Given the description of an element on the screen output the (x, y) to click on. 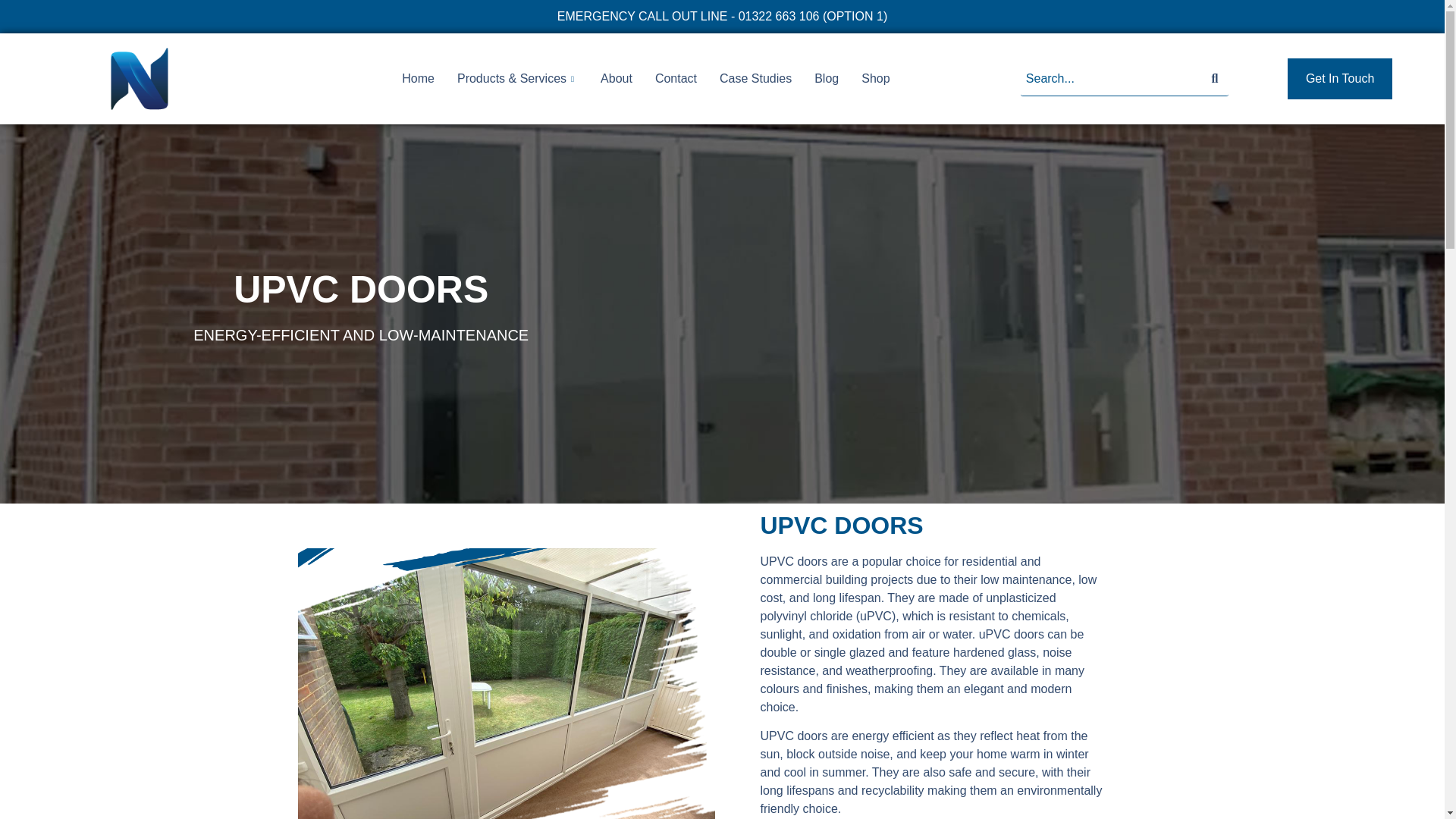
Search (1111, 78)
Home (417, 78)
N-Logo (139, 78)
